Given the description of an element on the screen output the (x, y) to click on. 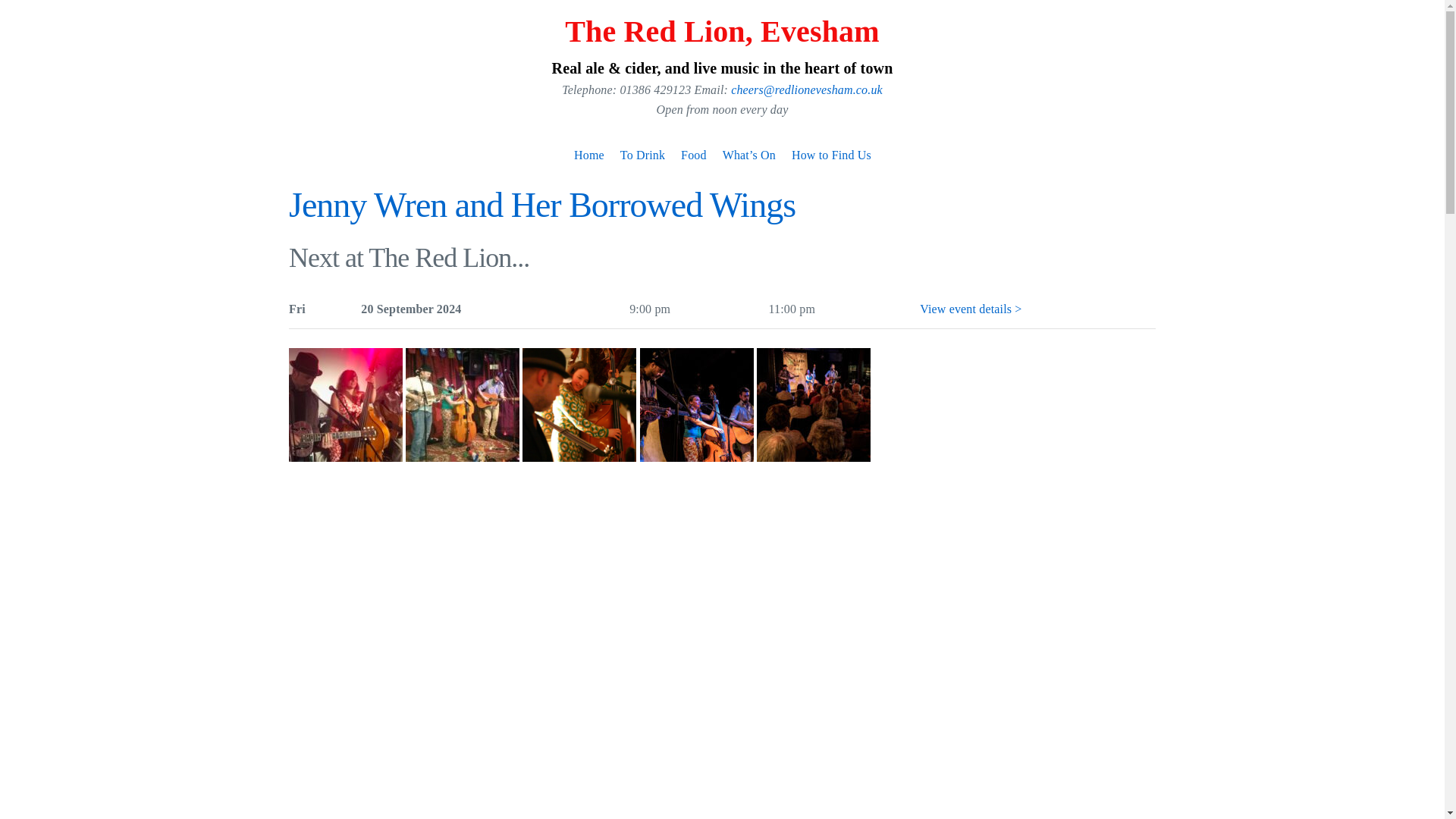
Home (588, 155)
To Drink (642, 155)
The Red Lion, Evesham (721, 31)
Jenny Wren and Her Borrowed Wings (541, 204)
Jenny Wren and Her Borrowed Wings (541, 204)
Food (693, 155)
How to Find Us (831, 155)
The Red Lion, Evesham (721, 31)
